Given the description of an element on the screen output the (x, y) to click on. 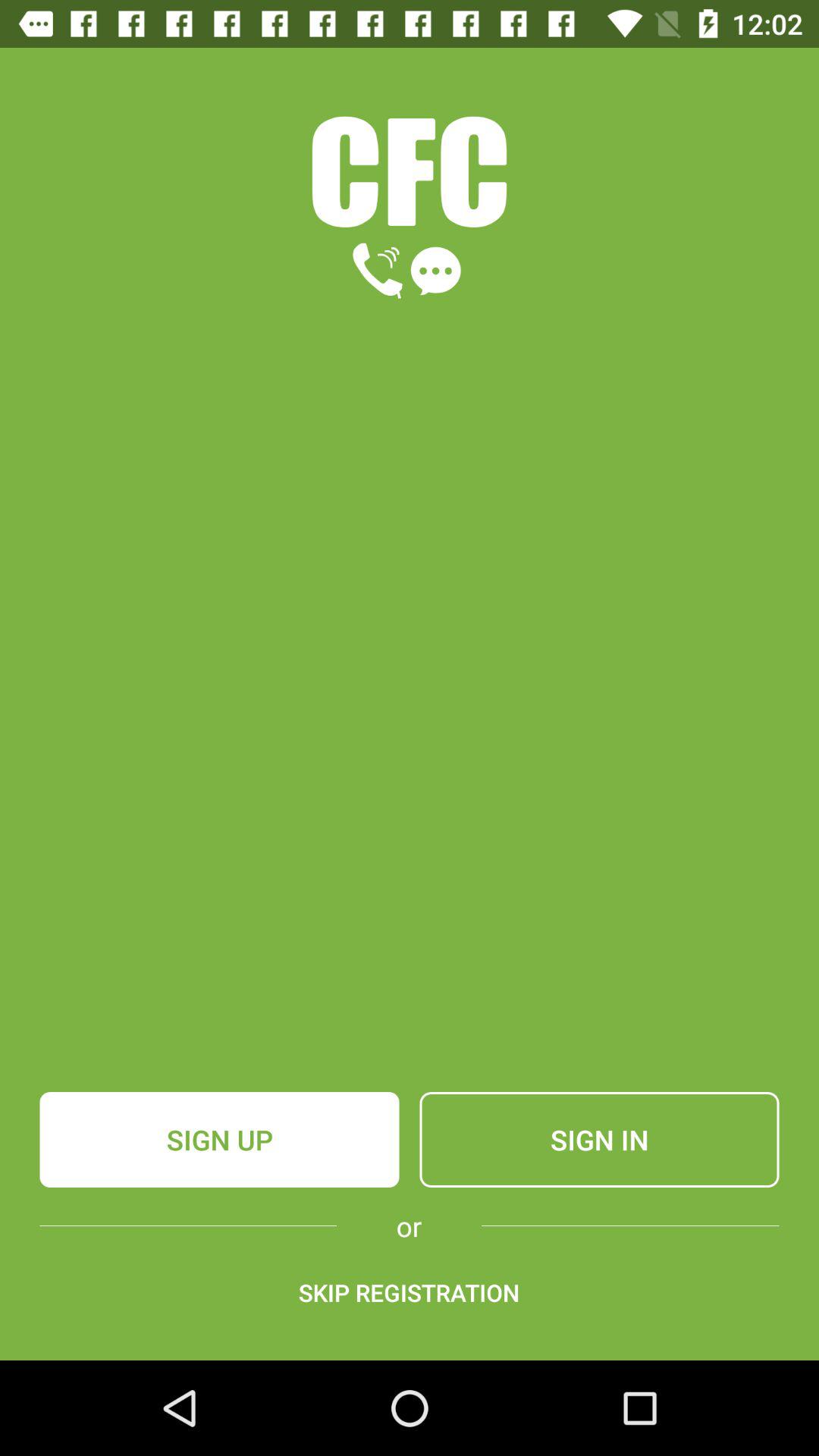
open icon above or item (219, 1139)
